Given the description of an element on the screen output the (x, y) to click on. 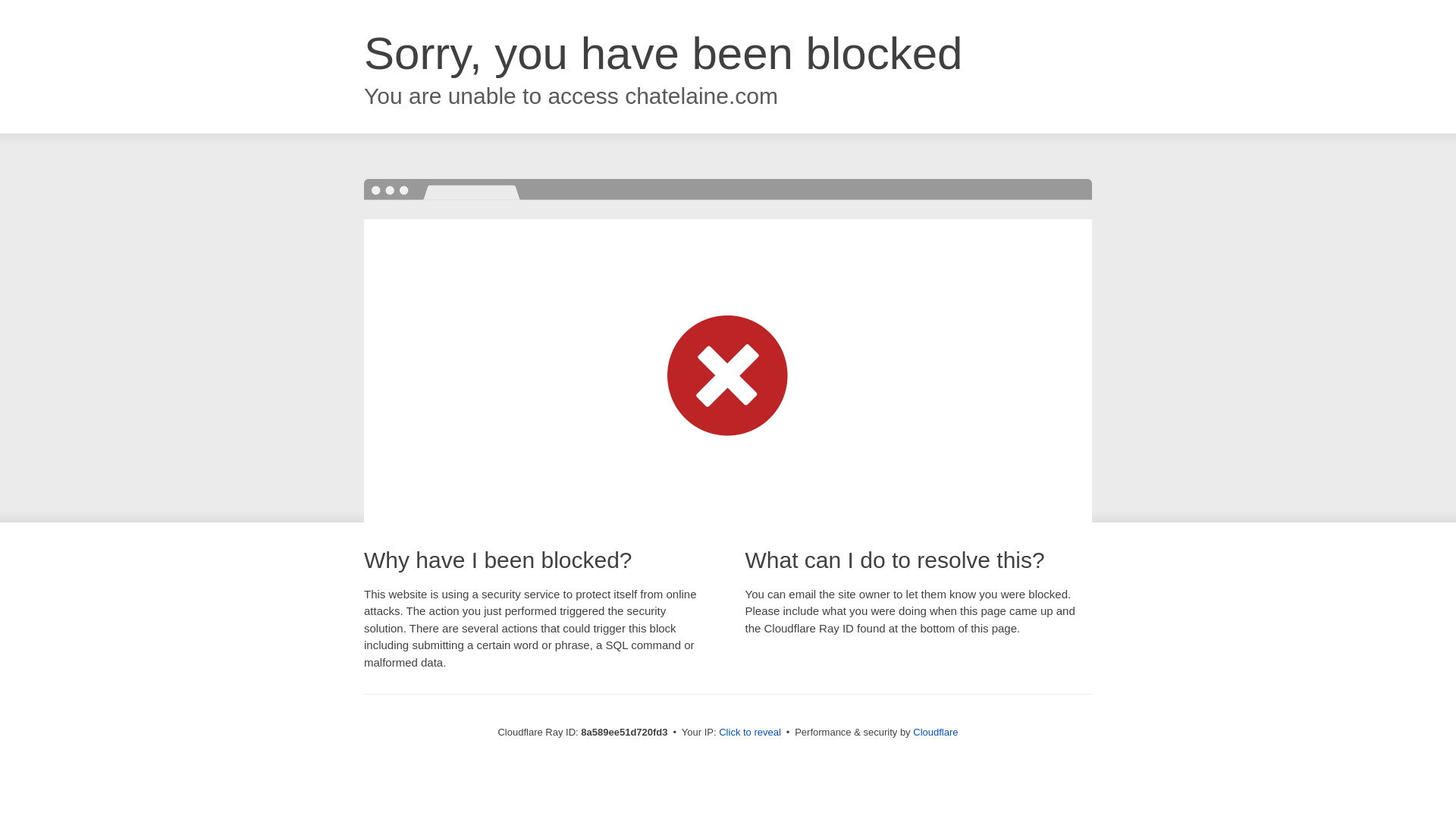
Cloudflare (935, 731)
Click to reveal (749, 732)
